Given the description of an element on the screen output the (x, y) to click on. 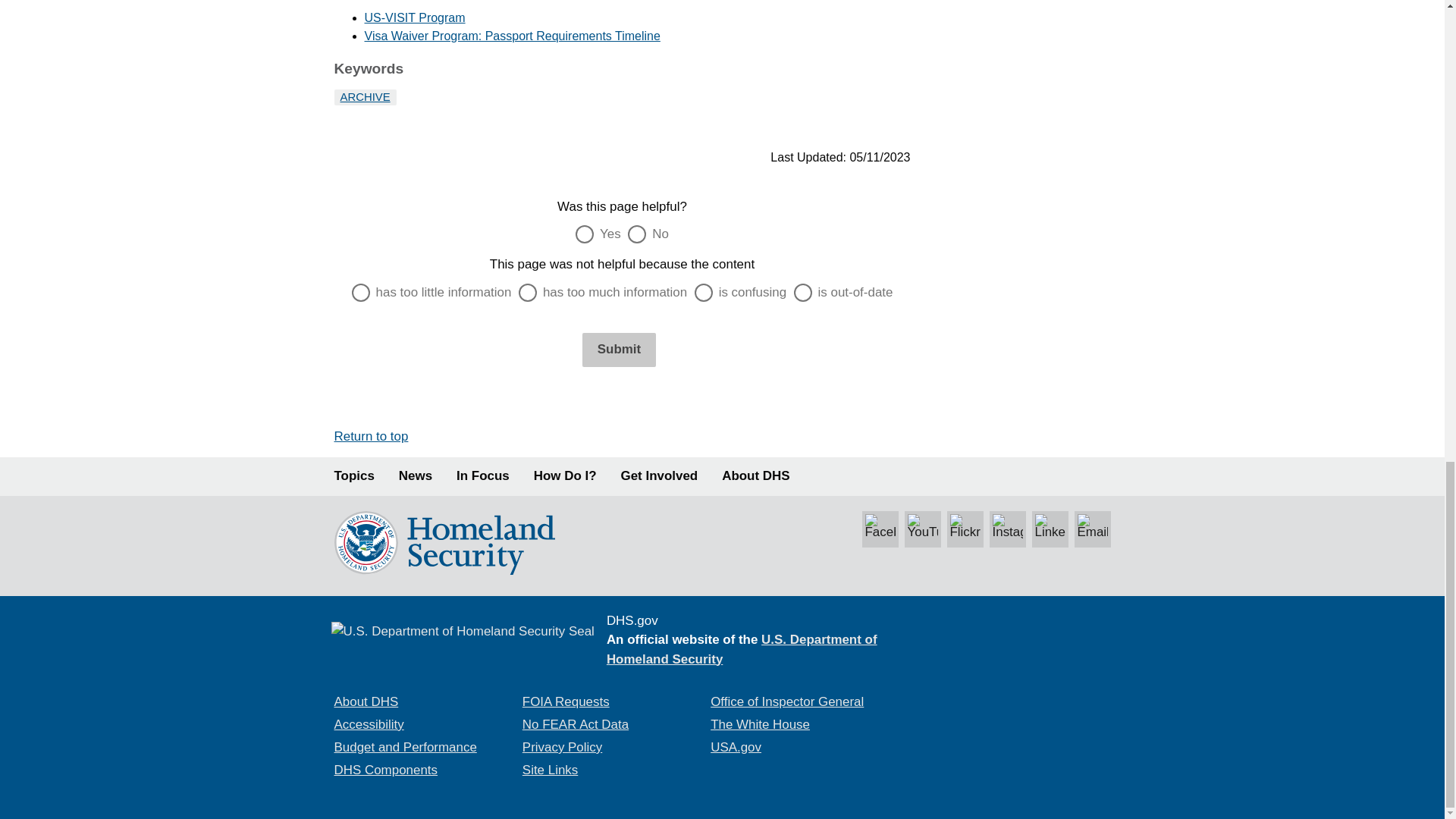
Get Involved (659, 476)
Topics (353, 476)
Visa Waiver Program: Passport Requirements Timeline (511, 35)
ARCHIVE (364, 96)
US-VISIT Program (414, 17)
Submit (619, 349)
U.S. Department of Homeland Security (742, 648)
Office of the Inspector General (786, 701)
About DHS (365, 701)
About DHS (755, 476)
Submit (619, 349)
USA.gov (735, 747)
Get Involved (659, 476)
Submit (619, 349)
National Terrorism Advisory System (1018, 678)
